Given the description of an element on the screen output the (x, y) to click on. 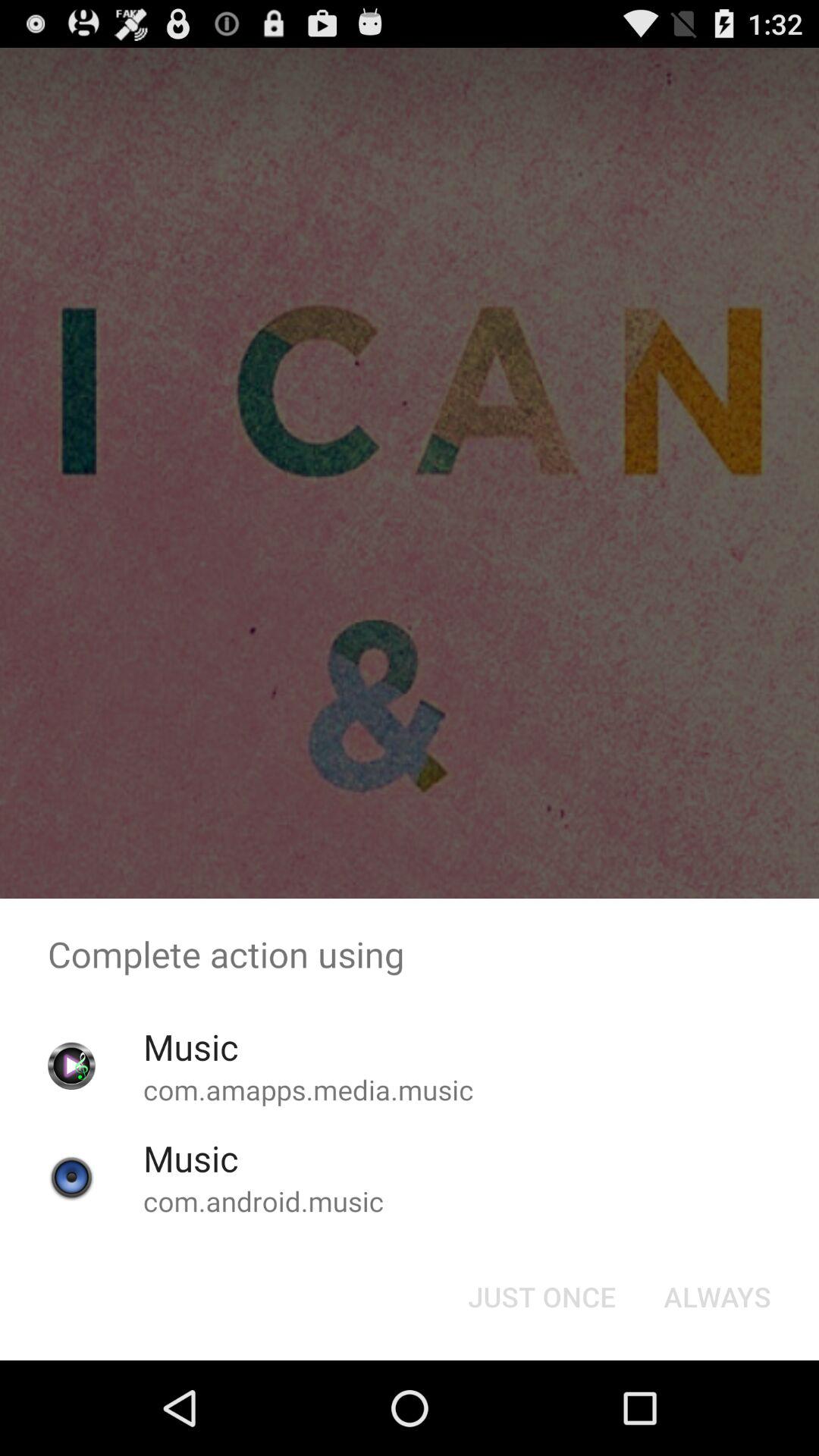
select app below com amapps media icon (541, 1296)
